Given the description of an element on the screen output the (x, y) to click on. 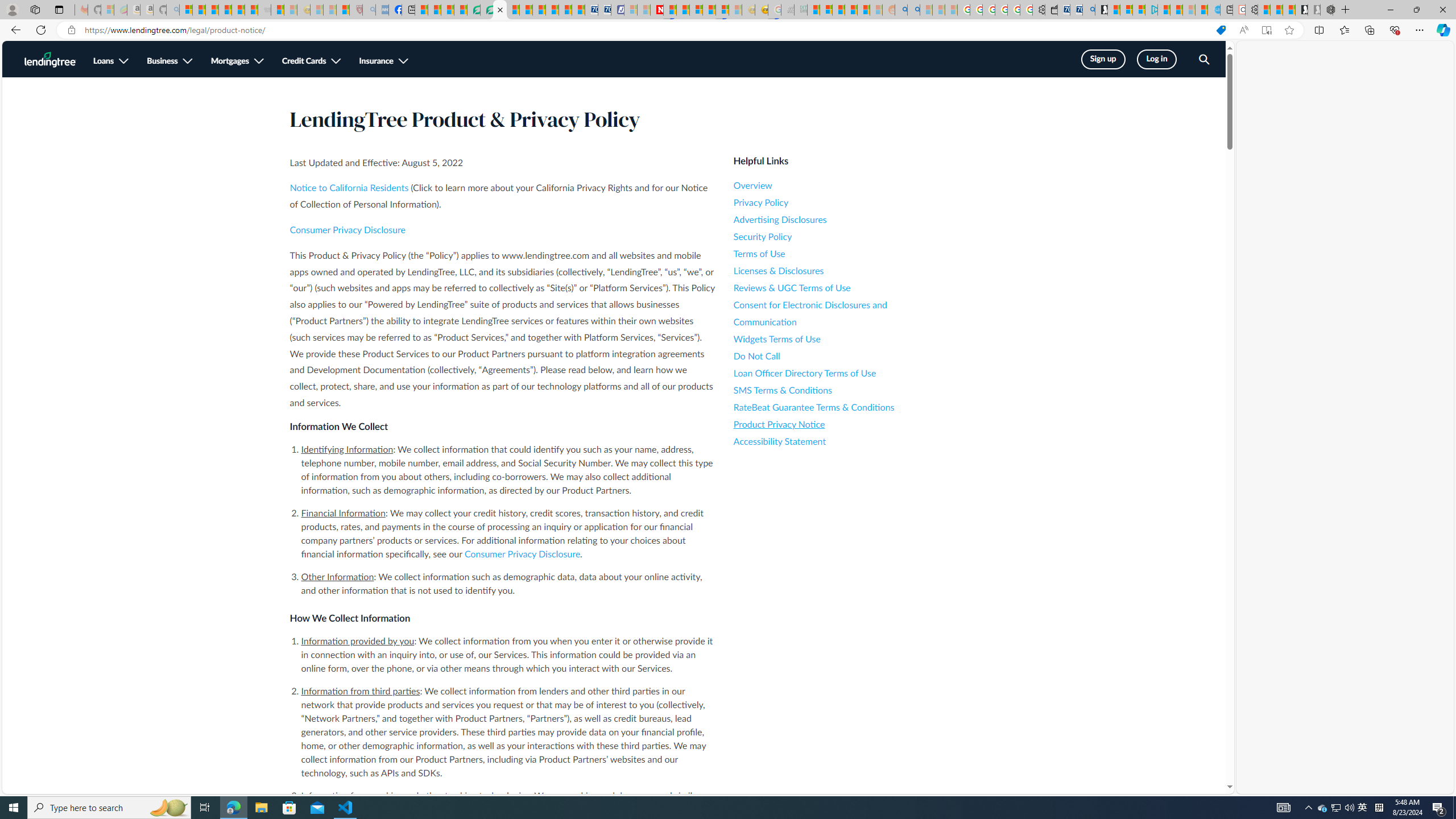
Product Privacy Notice (836, 424)
New Report Confirms 2023 Was Record Hot | Watch (237, 9)
LendingTree Homepage Logo (50, 59)
Log in (1156, 58)
Student Loan Update: Forgiveness Program Ends This Month (864, 9)
The Weather Channel - MSN (212, 9)
